Given the description of an element on the screen output the (x, y) to click on. 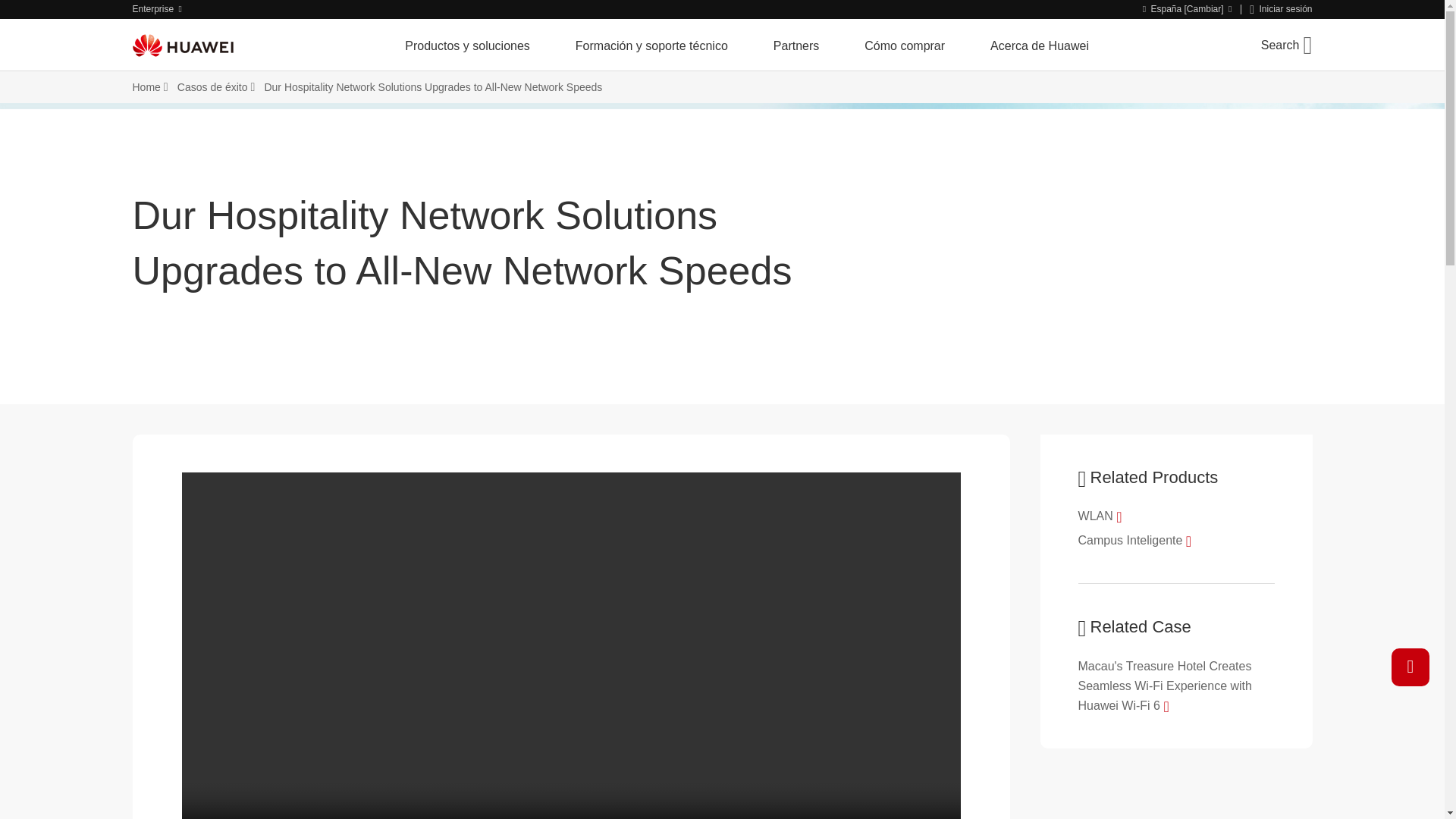
Huawei (182, 44)
